Given the description of an element on the screen output the (x, y) to click on. 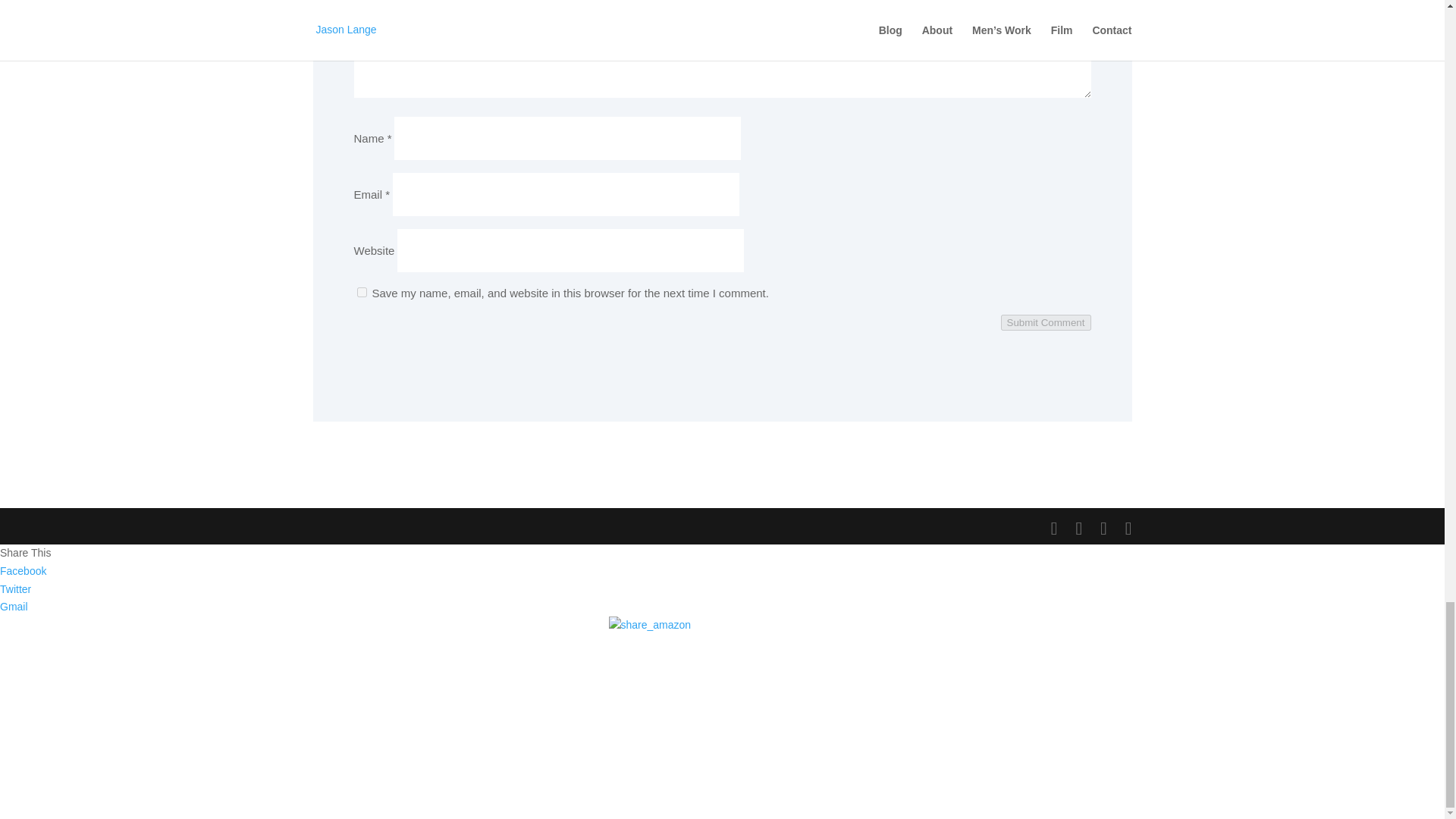
Submit Comment (1045, 322)
yes (361, 292)
